Given the description of an element on the screen output the (x, y) to click on. 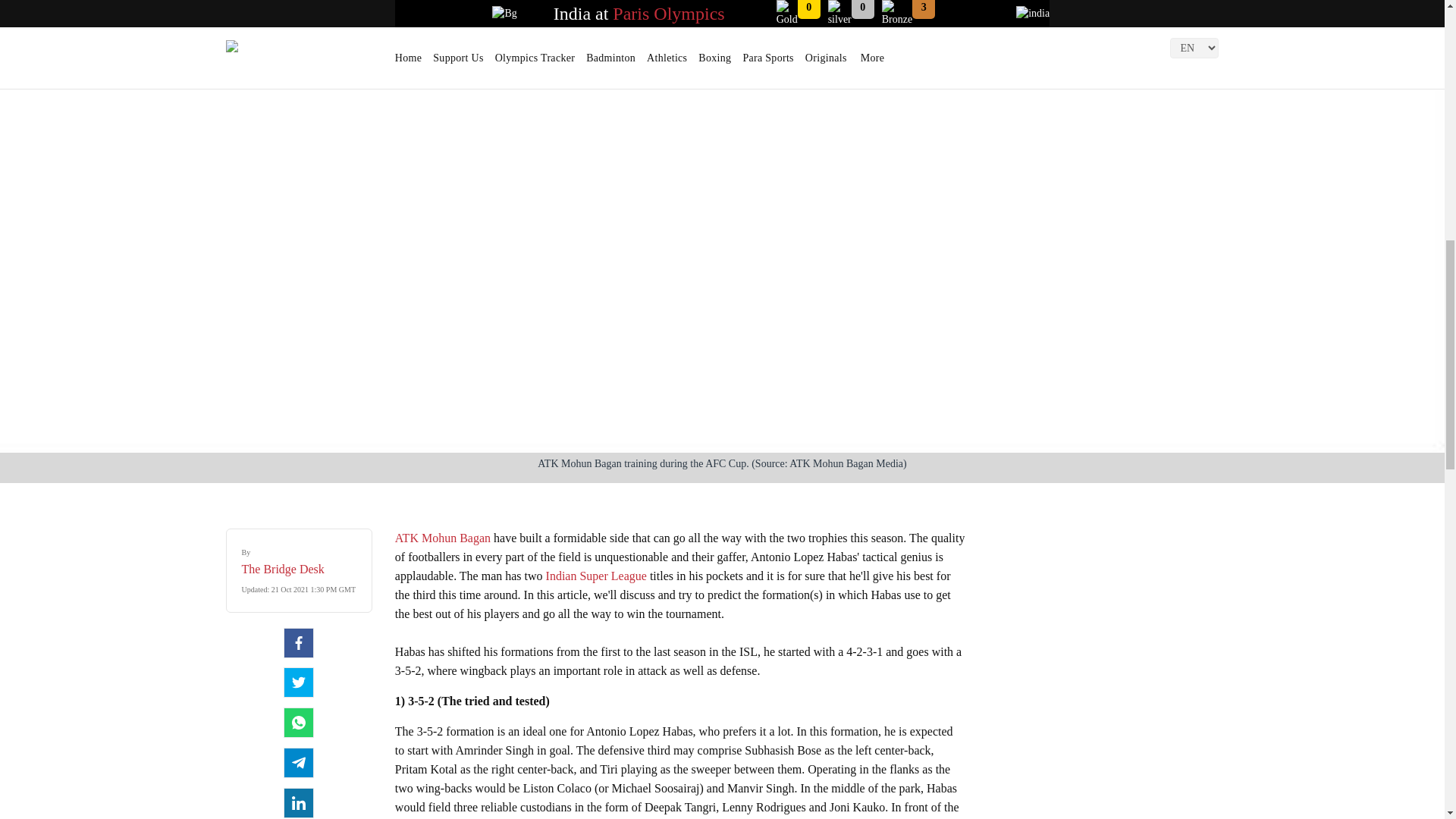
LinkedIn (298, 802)
